Given the description of an element on the screen output the (x, y) to click on. 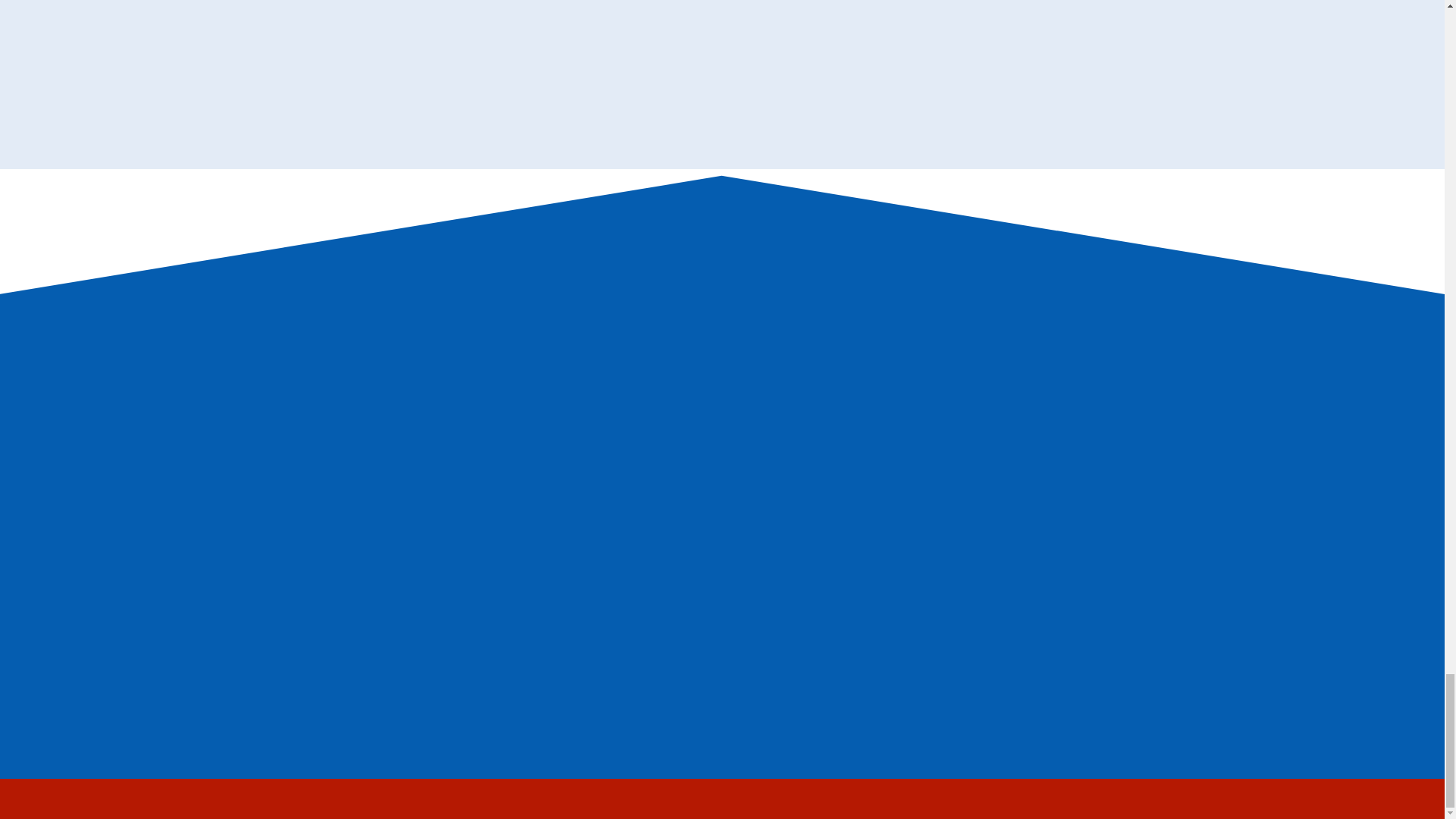
supremeheatingandcooling412.com (429, 442)
